Given the description of an element on the screen output the (x, y) to click on. 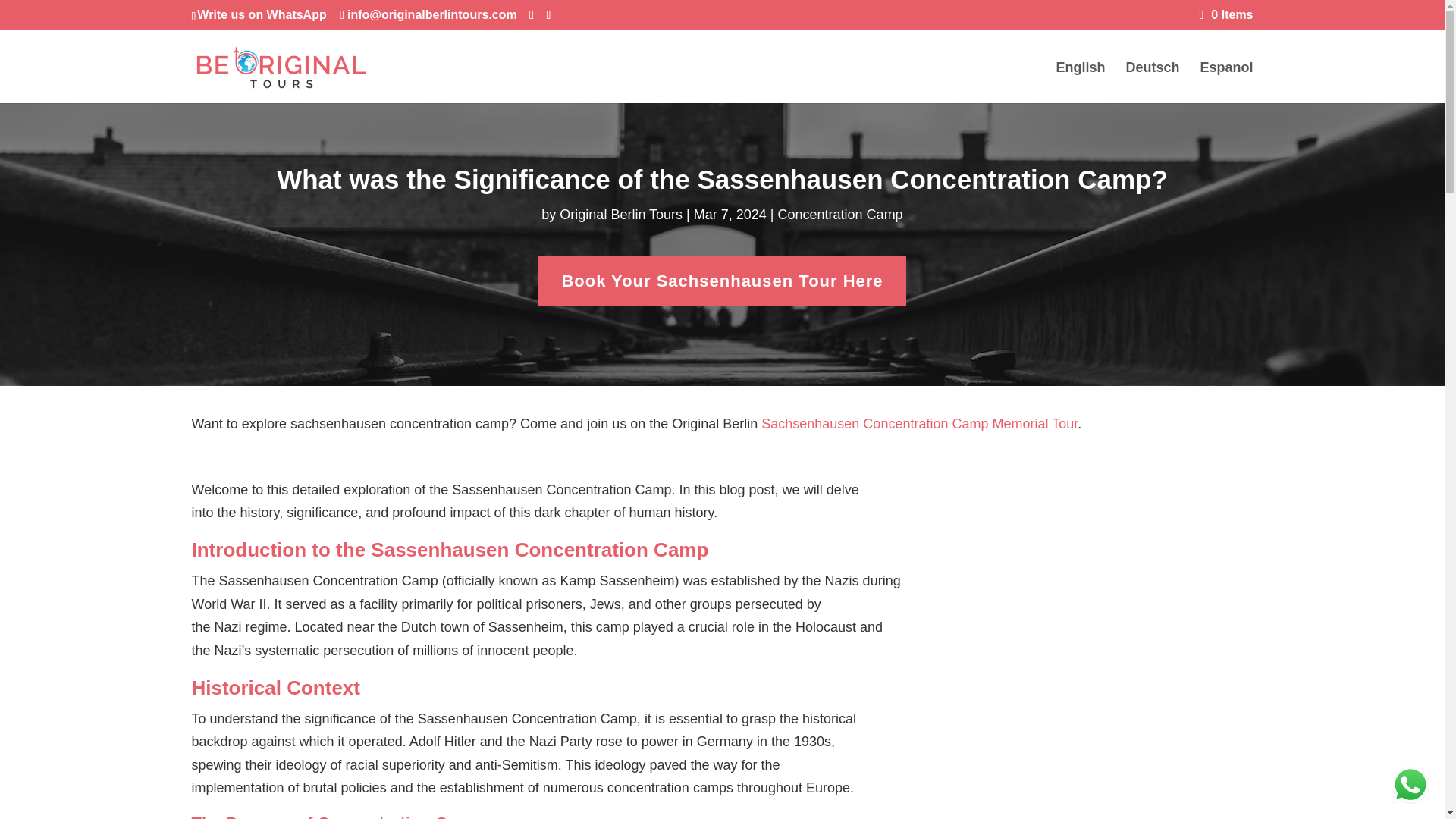
Write us on WhatsApp (261, 14)
Posts by Original Berlin Tours (620, 214)
Original Berlin Tours (620, 214)
Espanol (1225, 82)
English (1080, 82)
0 Items (1226, 14)
Sachsenhausen Concentration Camp Memorial Tour (919, 423)
WhatsApp us (1410, 784)
Concentration Camp (839, 214)
Deutsch (1152, 82)
Book Your Sachsenhausen Tour Here (721, 280)
